Given the description of an element on the screen output the (x, y) to click on. 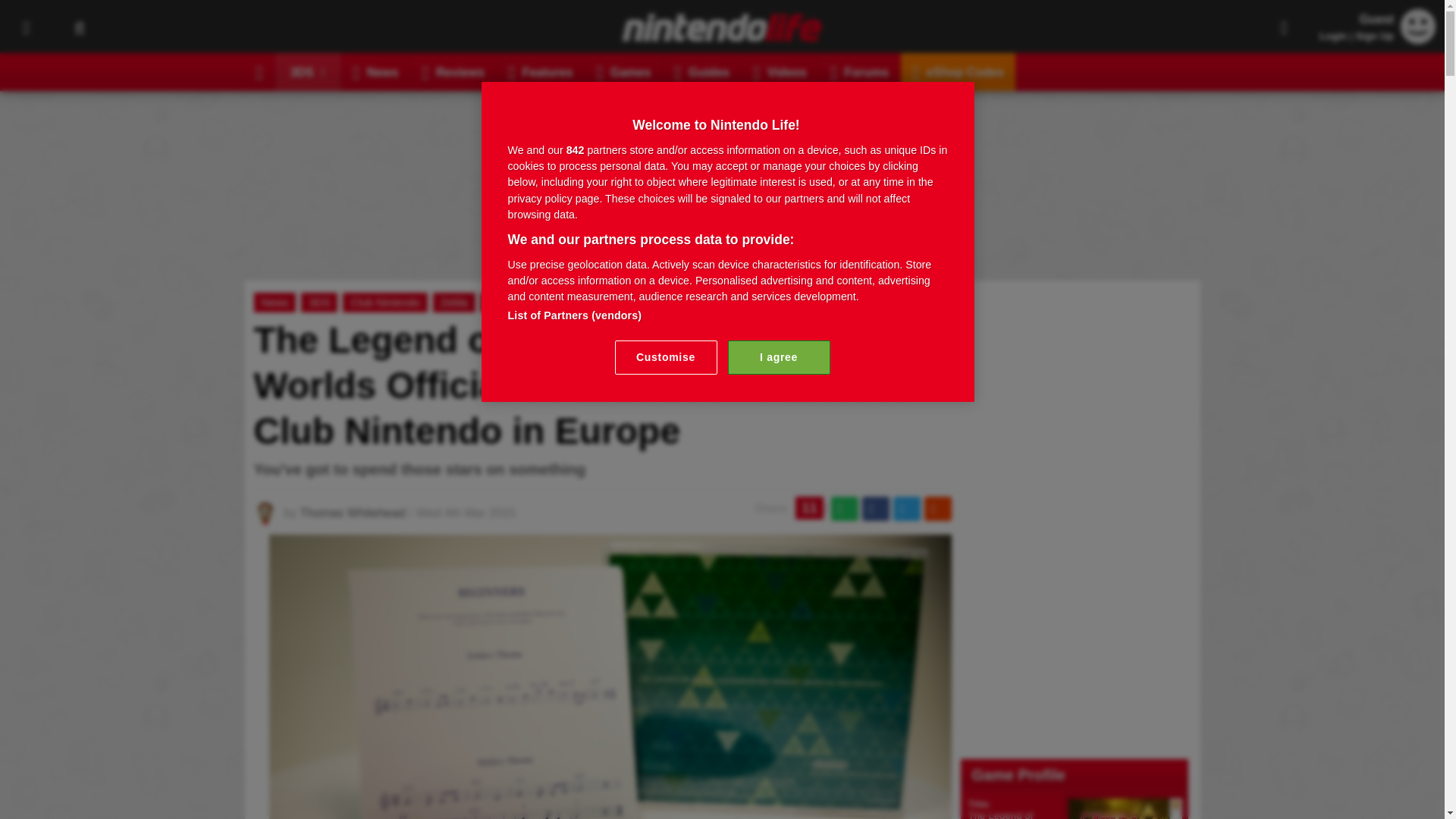
Guest (1417, 26)
Nintendo Life (721, 27)
Nintendo Life (721, 27)
Reviews (453, 71)
eShop Codes (957, 71)
Search (79, 26)
Topics (26, 26)
Share This Page (1283, 26)
Sign Up (1374, 35)
Games (623, 71)
Guides (701, 71)
News (375, 71)
Login (1332, 35)
Videos (779, 71)
Forums (859, 71)
